Given the description of an element on the screen output the (x, y) to click on. 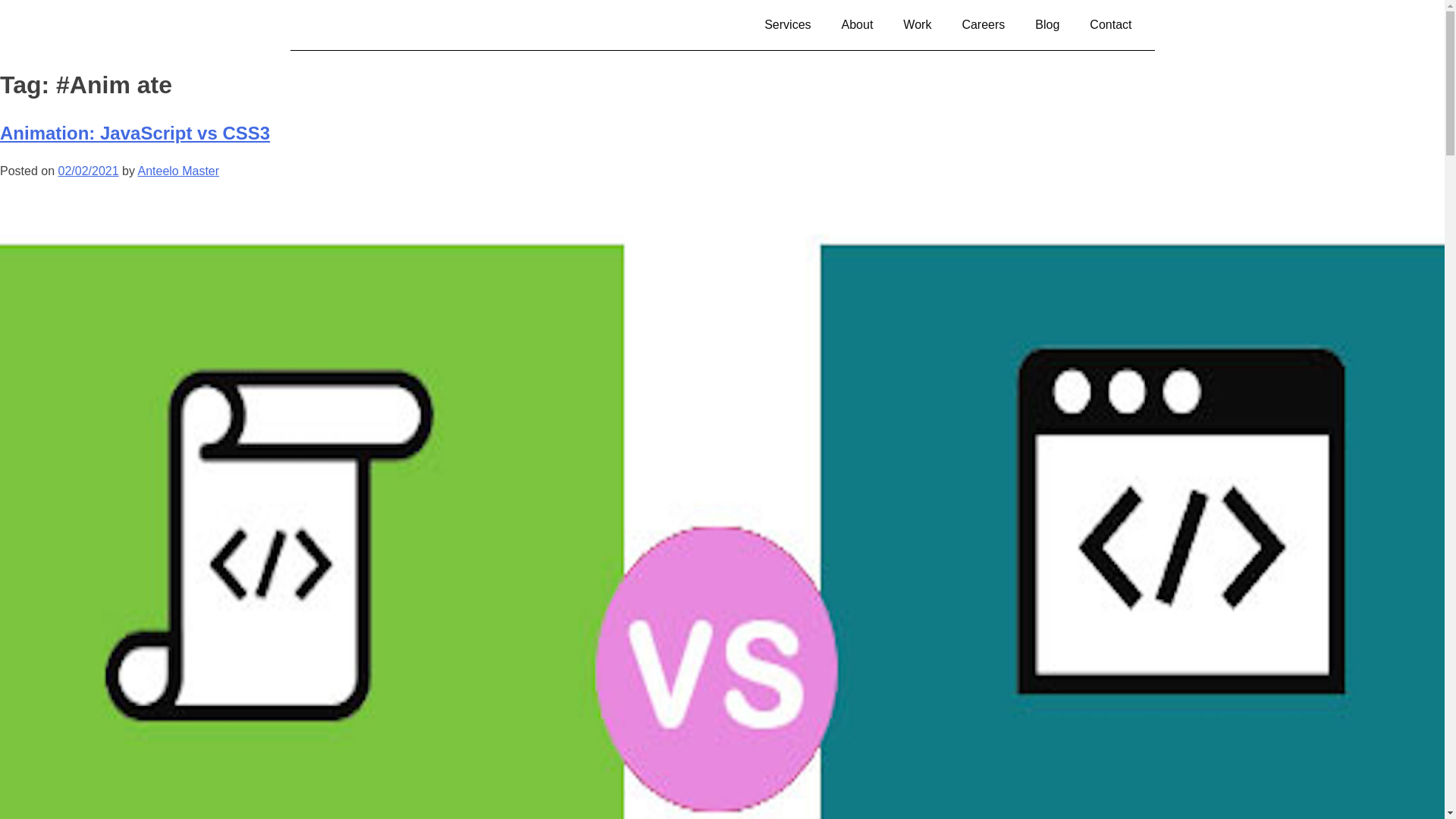
Work (917, 24)
Anteelo Master (177, 170)
Services (787, 24)
Contact (1110, 24)
Careers (983, 24)
Animation: JavaScript vs CSS3 (134, 132)
Blog (1047, 24)
About (857, 24)
